Given the description of an element on the screen output the (x, y) to click on. 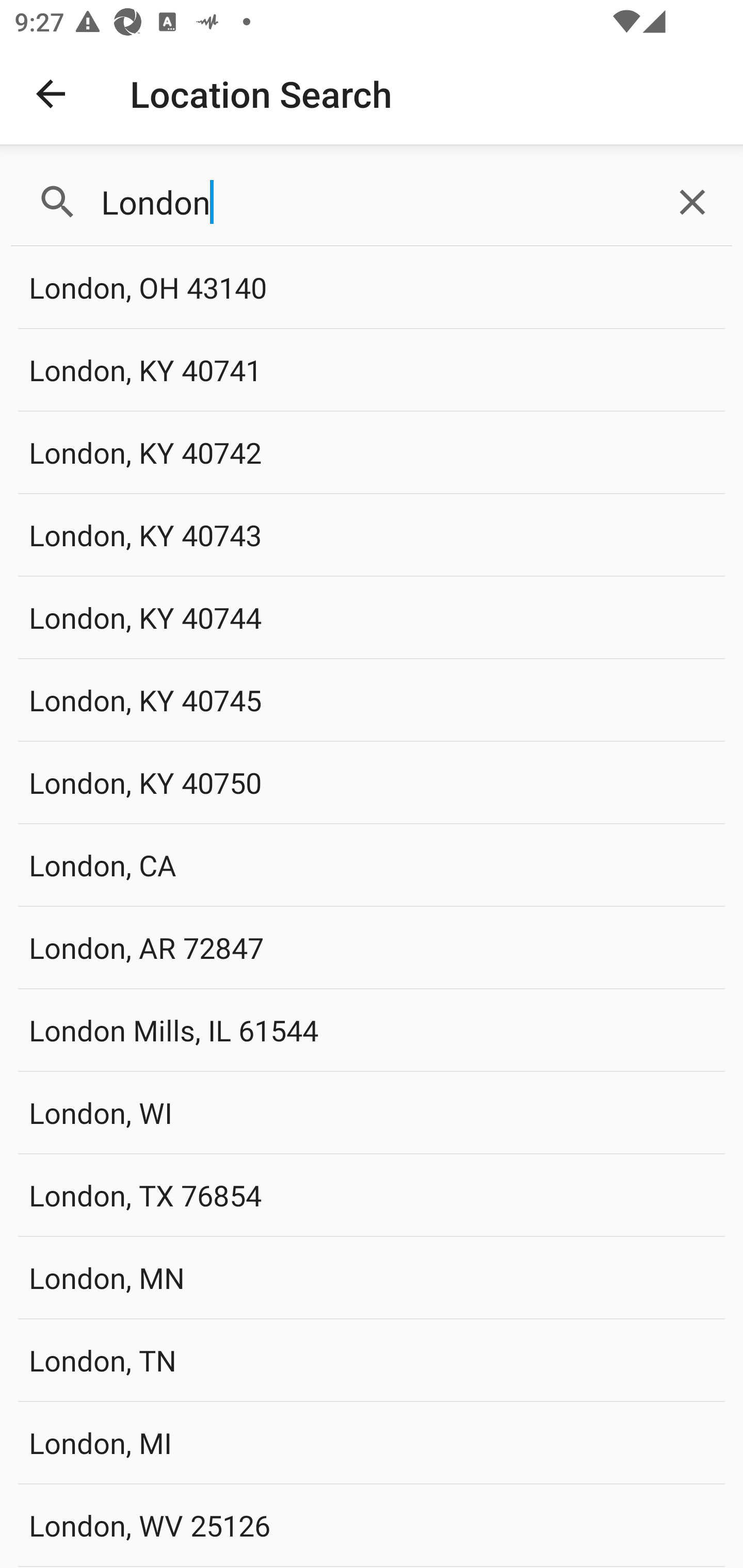
Navigate up (50, 93)
Clear query (692, 202)
London (371, 202)
London, OH 43140 (371, 287)
London, KY 40741 (371, 369)
London, KY 40742 (371, 451)
London, KY 40743 (371, 534)
London, KY 40744 (371, 616)
London, KY 40745 (371, 699)
London, KY 40750 (371, 782)
London, CA (371, 864)
London, AR 72847 (371, 947)
London Mills, IL 61544 (371, 1029)
London, WI (371, 1112)
London, TX 76854 (371, 1194)
London, MN (371, 1276)
London, TN (371, 1359)
London, MI (371, 1442)
London, WV 25126 (371, 1524)
London Springs, OR (371, 1567)
